Given the description of an element on the screen output the (x, y) to click on. 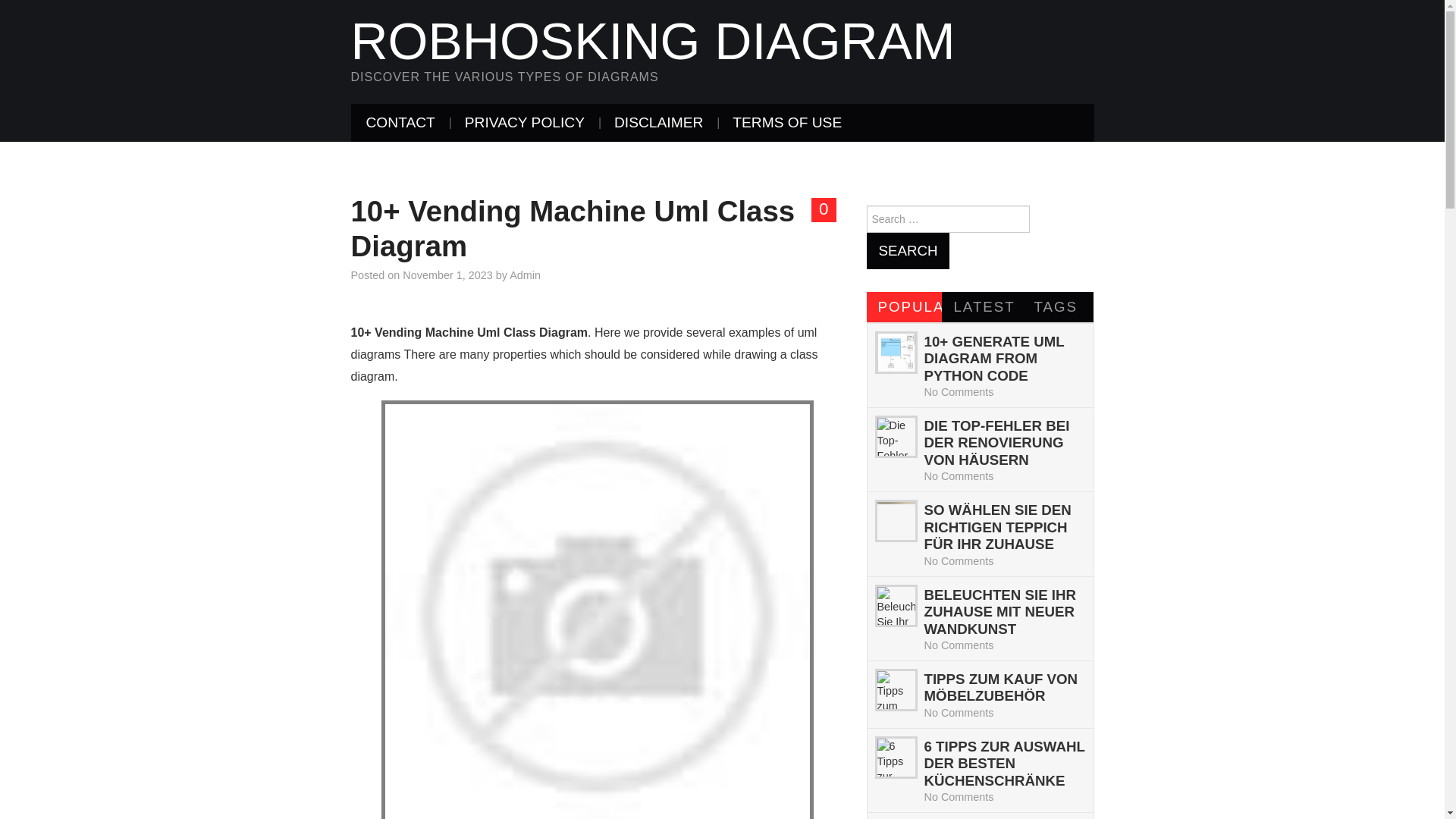
DISCLAIMER (657, 122)
Search (907, 250)
Beleuchten Sie Ihr Zuhause mit neuer Wandkunst (999, 612)
Beleuchten Sie Ihr Zuhause mit neuer Wandkunst (895, 605)
POPULAR (904, 306)
3:58 am (447, 275)
Admin (524, 275)
November 1, 2023 (447, 275)
0 (822, 209)
Search (907, 250)
